Given the description of an element on the screen output the (x, y) to click on. 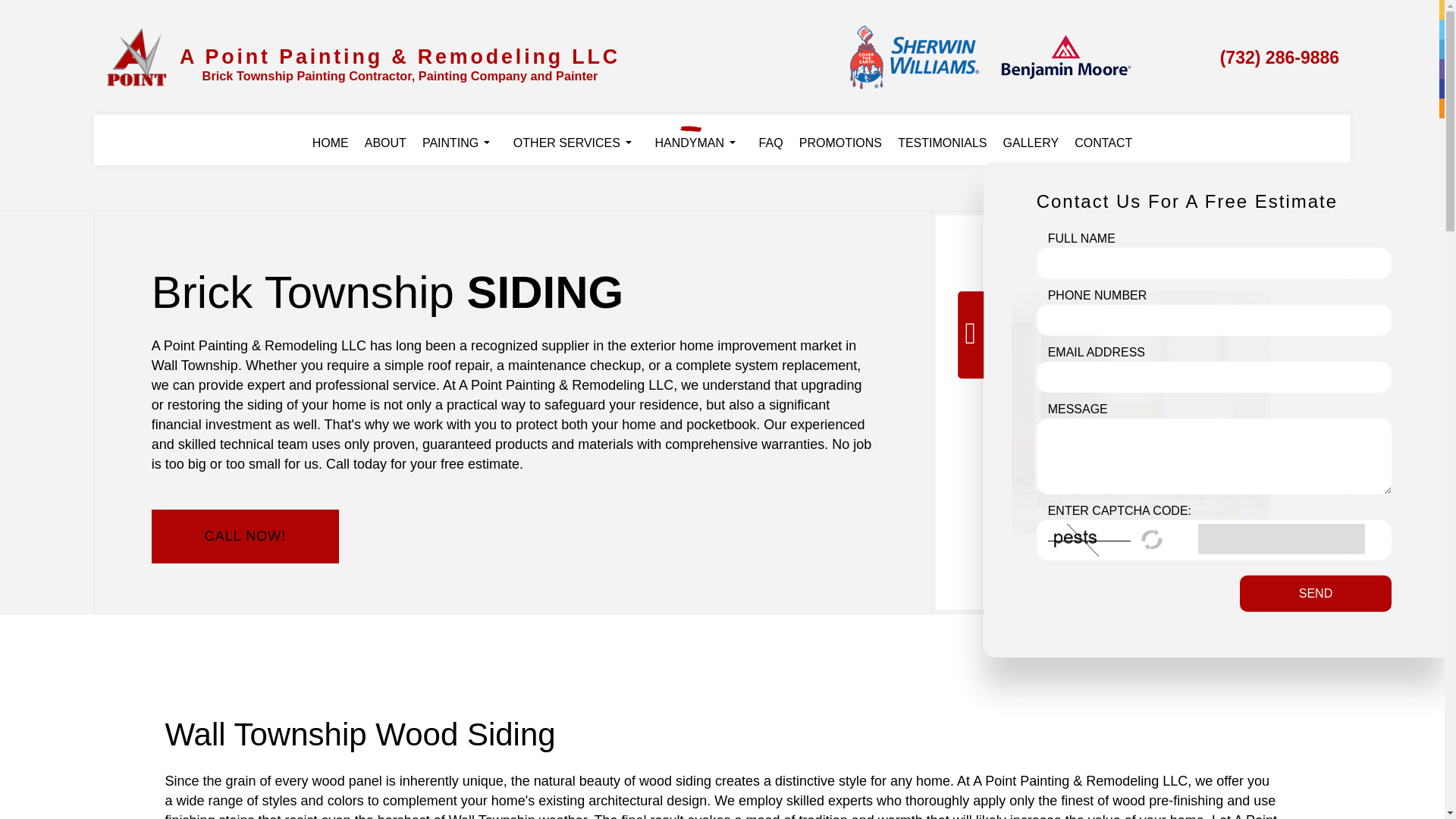
Email Address (1213, 377)
Full Name (1213, 263)
Phone Number (1213, 319)
